Given the description of an element on the screen output the (x, y) to click on. 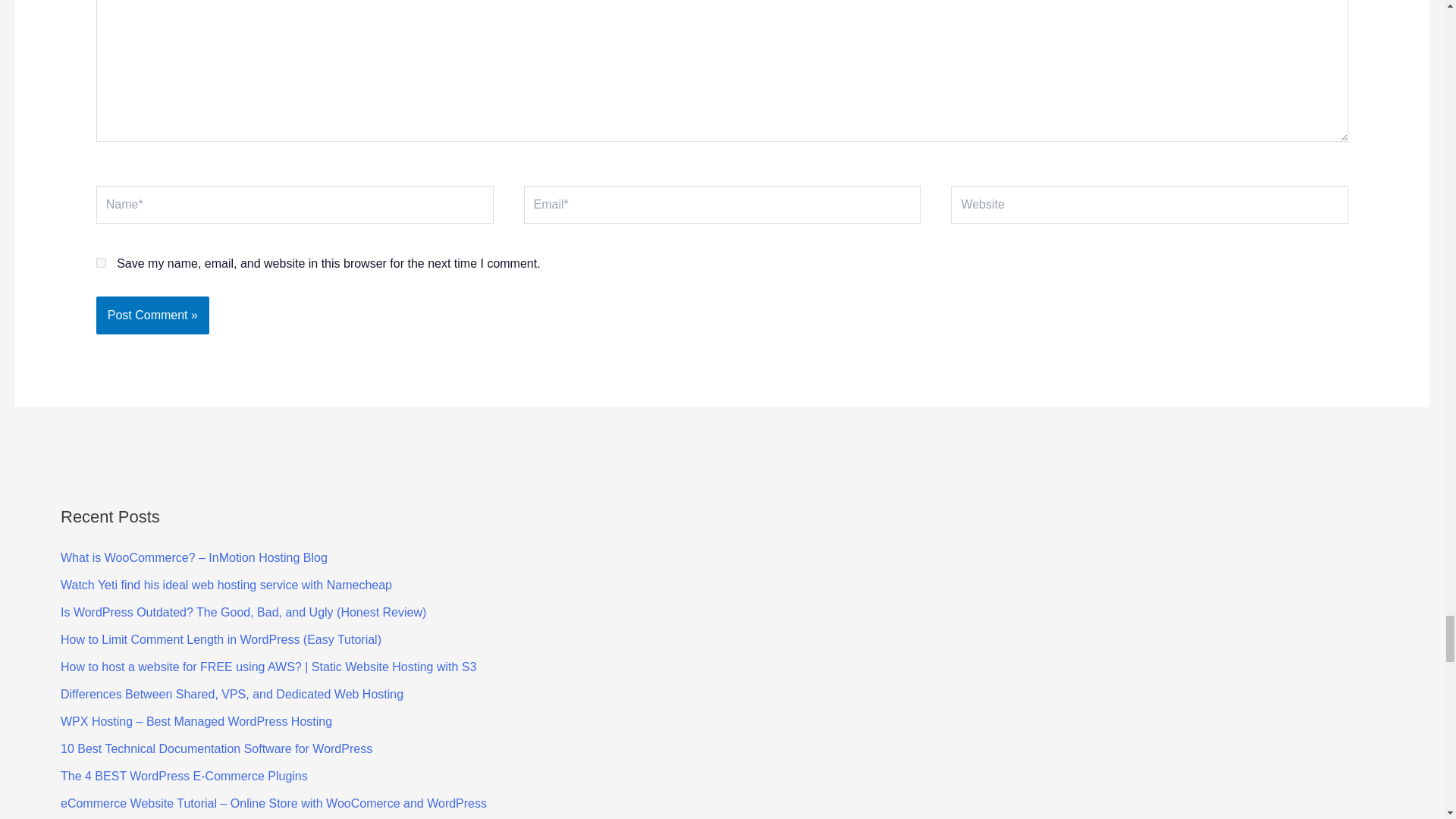
Differences Between Shared, VPS, and Dedicated Web Hosting (232, 694)
10 Best Technical Documentation Software for WordPress (216, 748)
yes (101, 262)
The 4 BEST WordPress E-Commerce Plugins (184, 775)
Watch Yeti find his ideal web hosting service with Namecheap (226, 584)
